Given the description of an element on the screen output the (x, y) to click on. 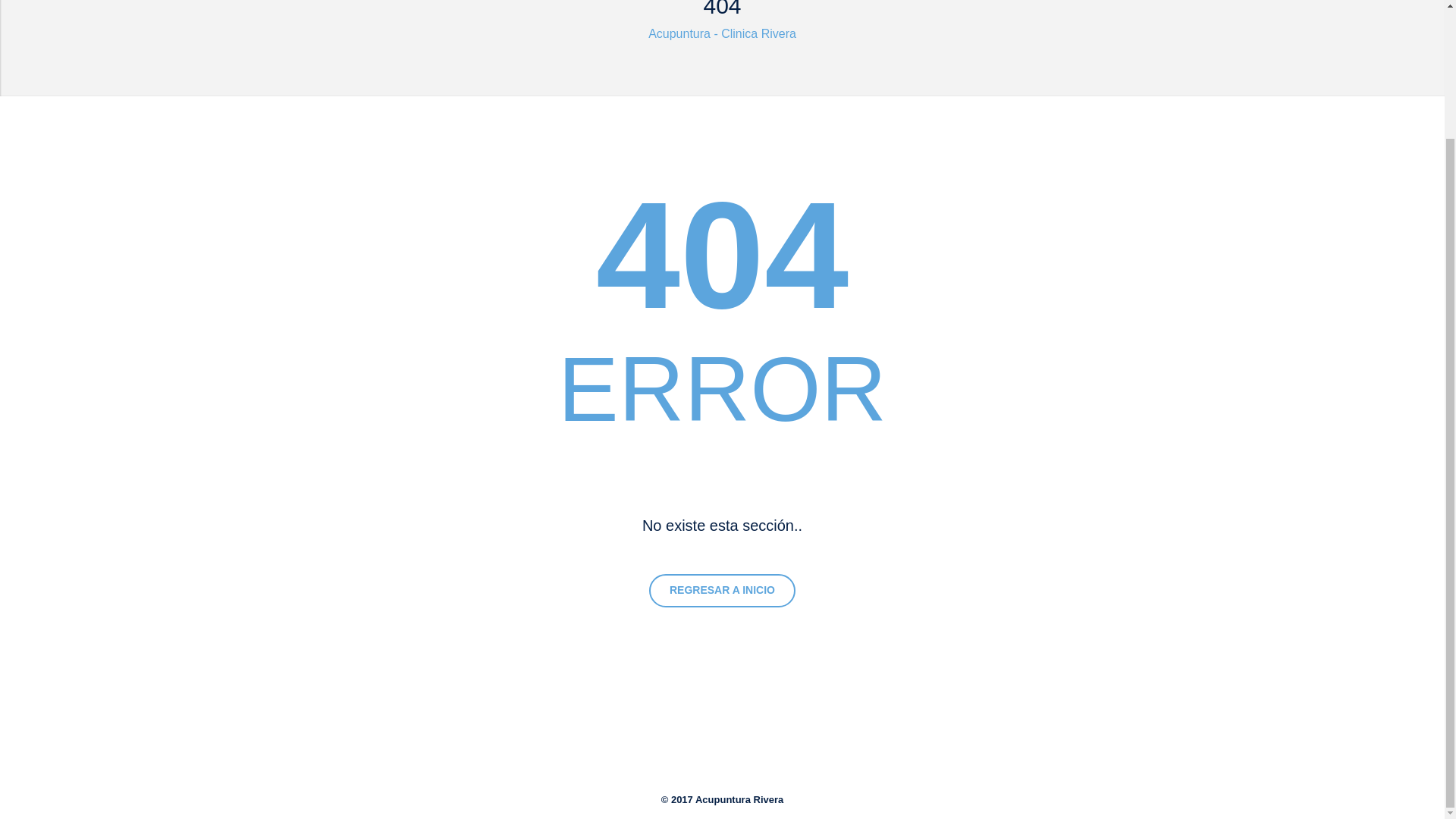
REGRESAR A INICIO (721, 590)
